Given the description of an element on the screen output the (x, y) to click on. 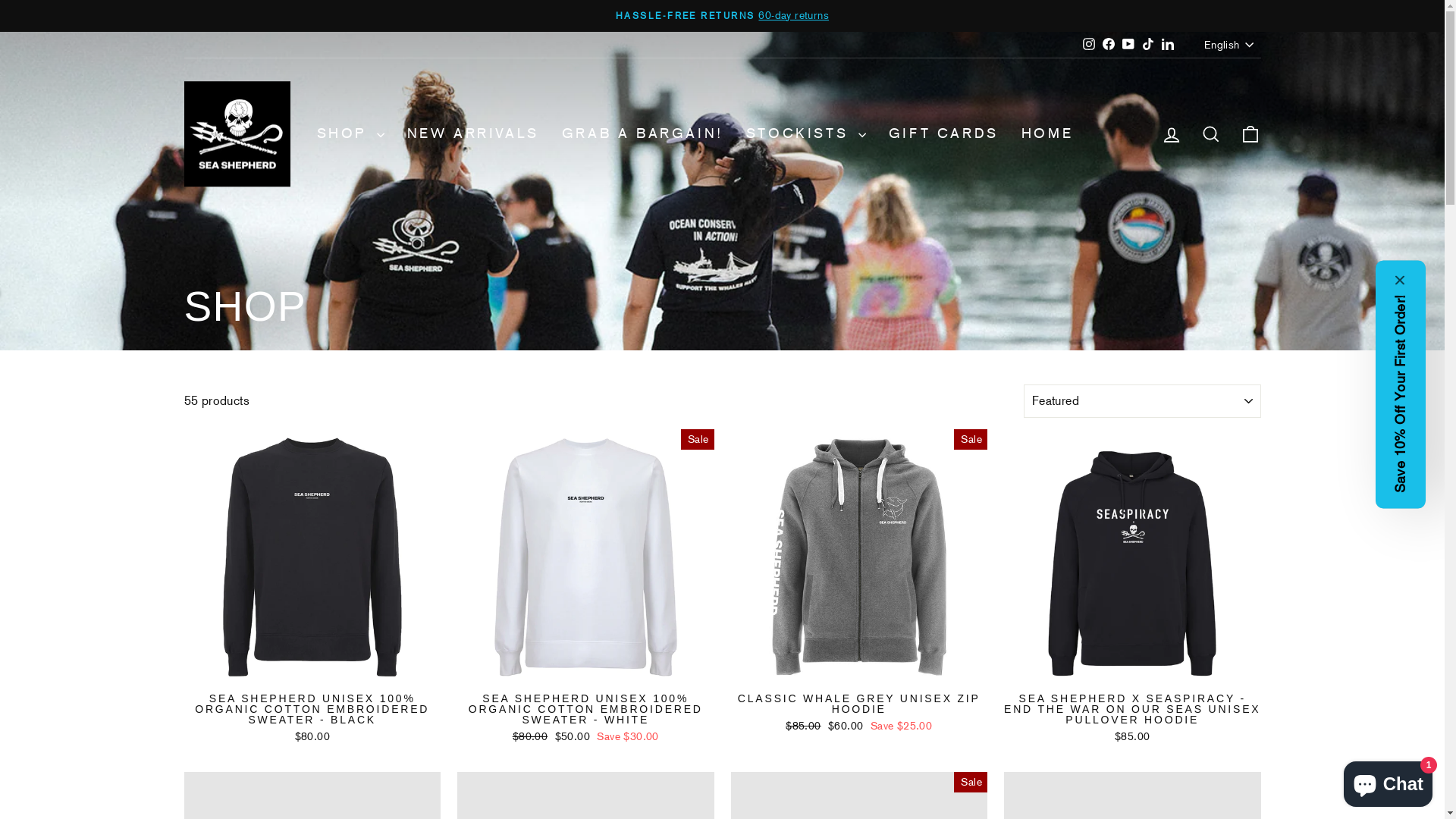
Shopify online store chat Element type: hover (1388, 780)
instagram
Instagram Element type: text (1088, 44)
ACCOUNT
LOG IN Element type: text (1170, 133)
ICON-BAG-MINIMAL
CART Element type: text (1249, 133)
GIFT CARDS Element type: text (943, 133)
HASSLE-FREE RETURNS60-day returns Element type: text (722, 15)
English Element type: text (1230, 44)
LinkedIn Element type: text (1167, 44)
TikTok Element type: text (1147, 44)
ICON-SEARCH
SEARCH Element type: text (1210, 133)
YouTube Element type: text (1128, 44)
Facebook Element type: text (1108, 44)
HOME Element type: text (1047, 133)
NEW ARRIVALS Element type: text (472, 133)
GRAB A BARGAIN! Element type: text (642, 133)
